Given the description of an element on the screen output the (x, y) to click on. 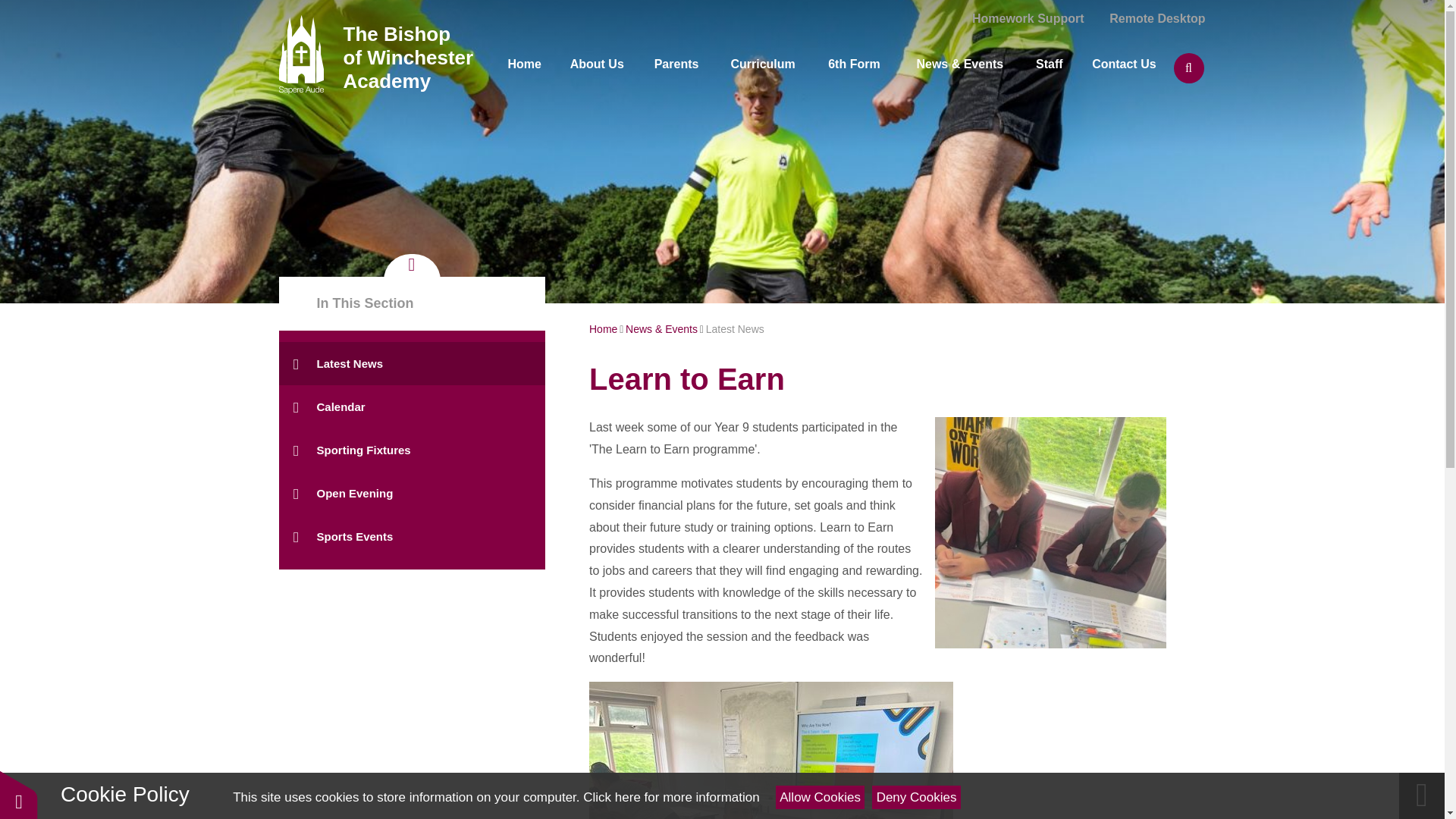
About Us (597, 64)
See cookie policy (670, 797)
Allow Cookies (820, 797)
Cookie Settings (18, 794)
Home (524, 64)
Deny Cookies (915, 797)
